Given the description of an element on the screen output the (x, y) to click on. 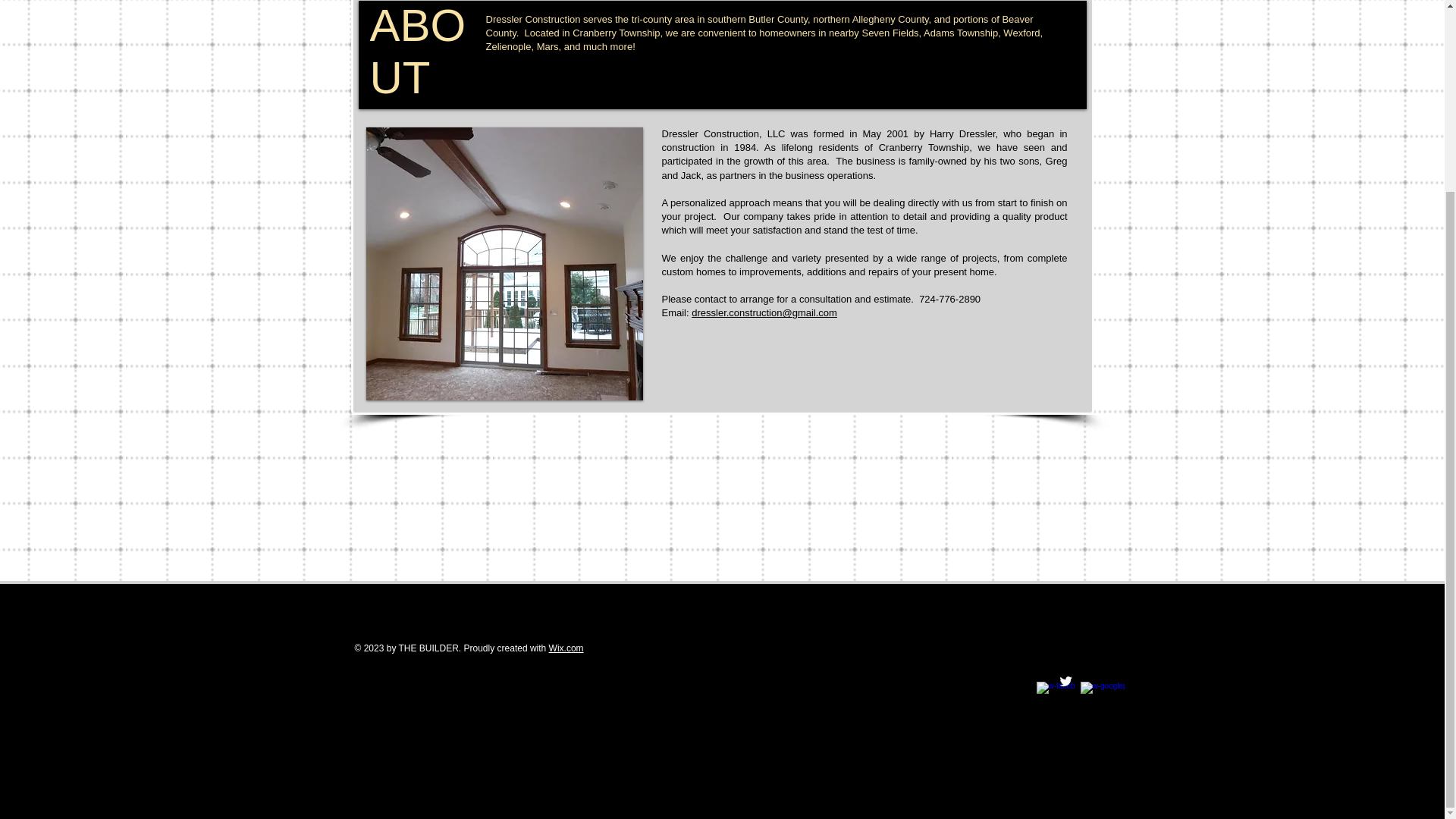
Facebook Like (699, 383)
Wix.com (565, 647)
